Given the description of an element on the screen output the (x, y) to click on. 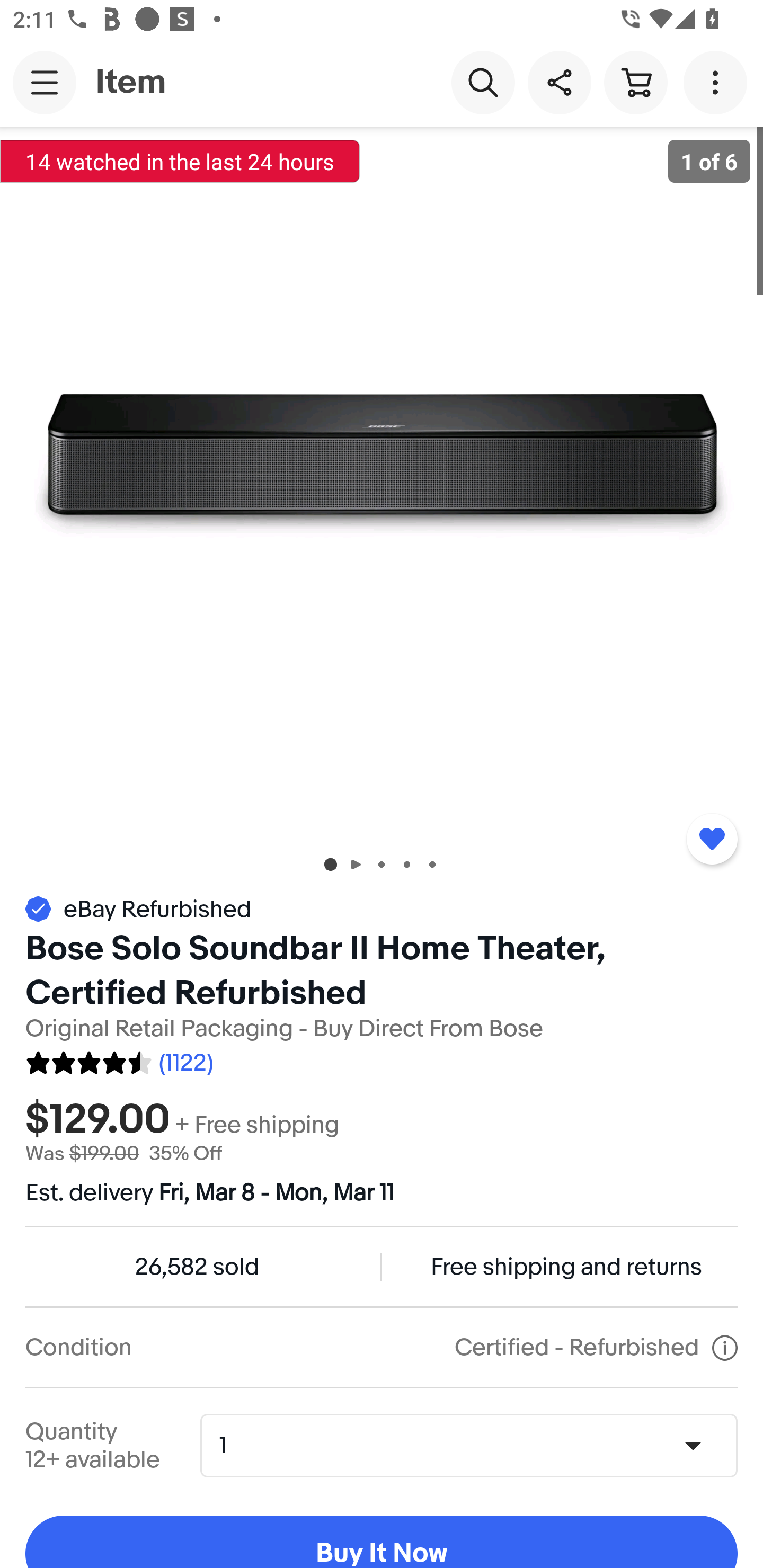
Main navigation, open (44, 82)
Search (482, 81)
Share this item (559, 81)
Cart button shopping cart (635, 81)
More options (718, 81)
Item image 1 of 6 (381, 482)
14 watched in the last 24 hours (180, 161)
Added to watchlist (711, 838)
Quantity,1,12+ available 1 (474, 1445)
Buy It Now (381, 1542)
